Given the description of an element on the screen output the (x, y) to click on. 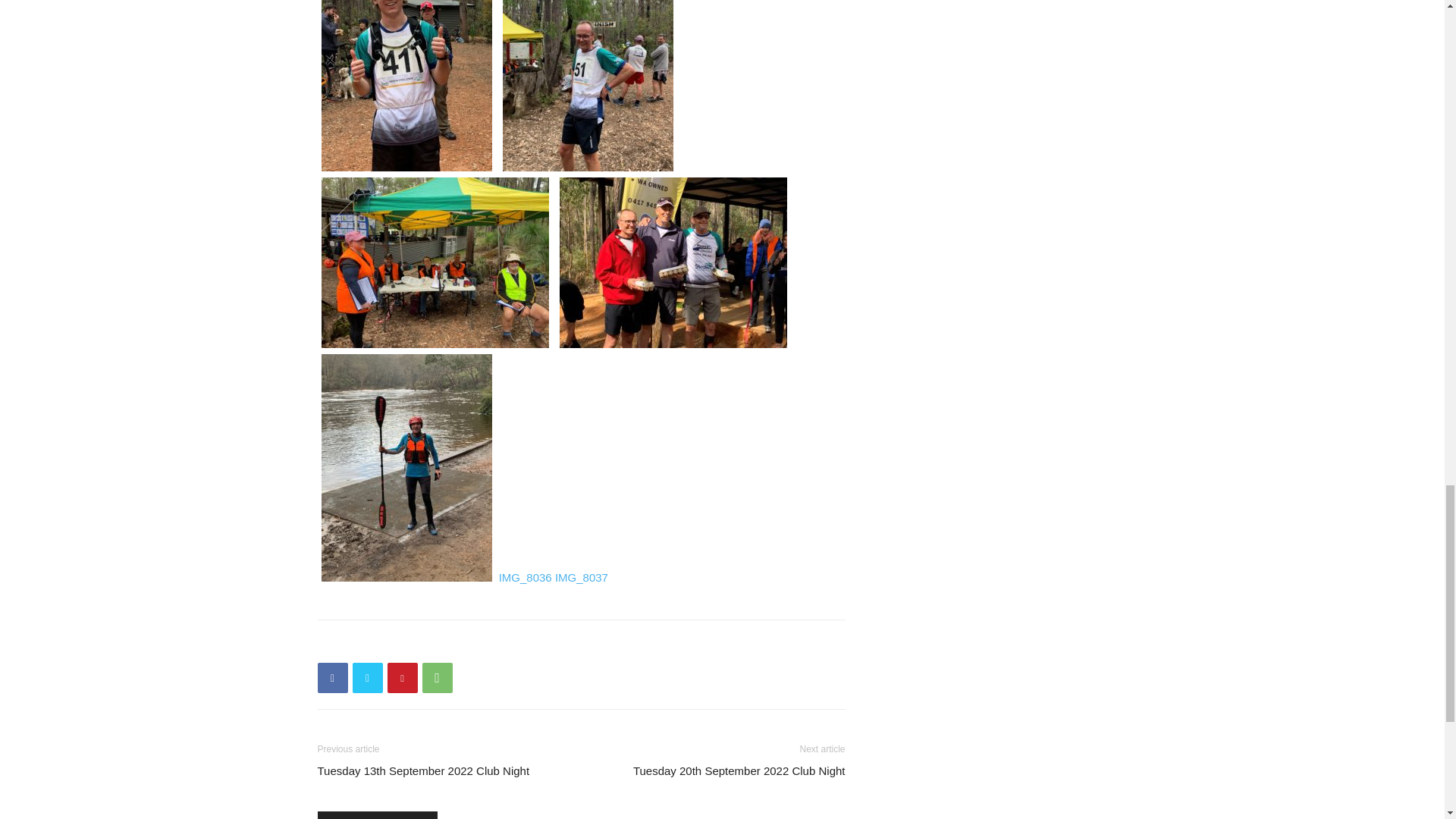
WhatsApp (436, 677)
Facebook (332, 677)
Pinterest (401, 677)
bottomFacebookLike (430, 643)
Twitter (366, 677)
